Given the description of an element on the screen output the (x, y) to click on. 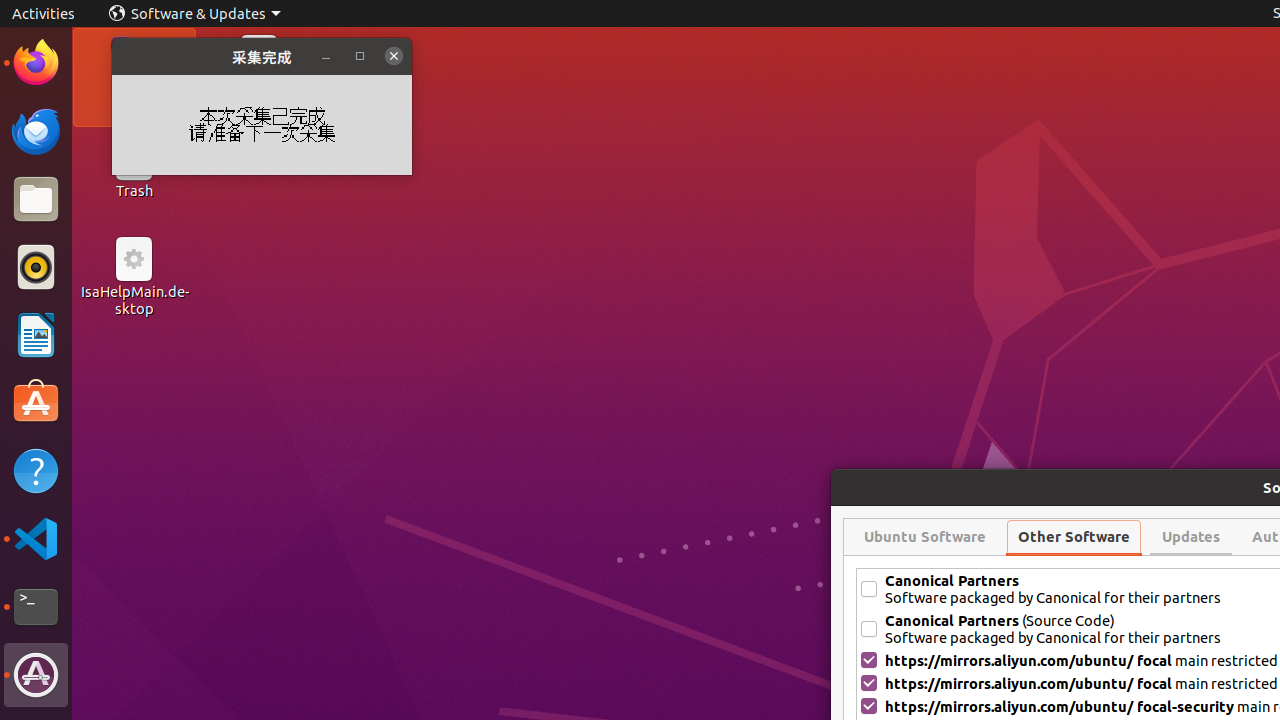
IsaHelpMain.desktop Element type: label (133, 300)
Firefox Web Browser Element type: push-button (36, 63)
Software & Updates Element type: menu (195, 13)
